Given the description of an element on the screen output the (x, y) to click on. 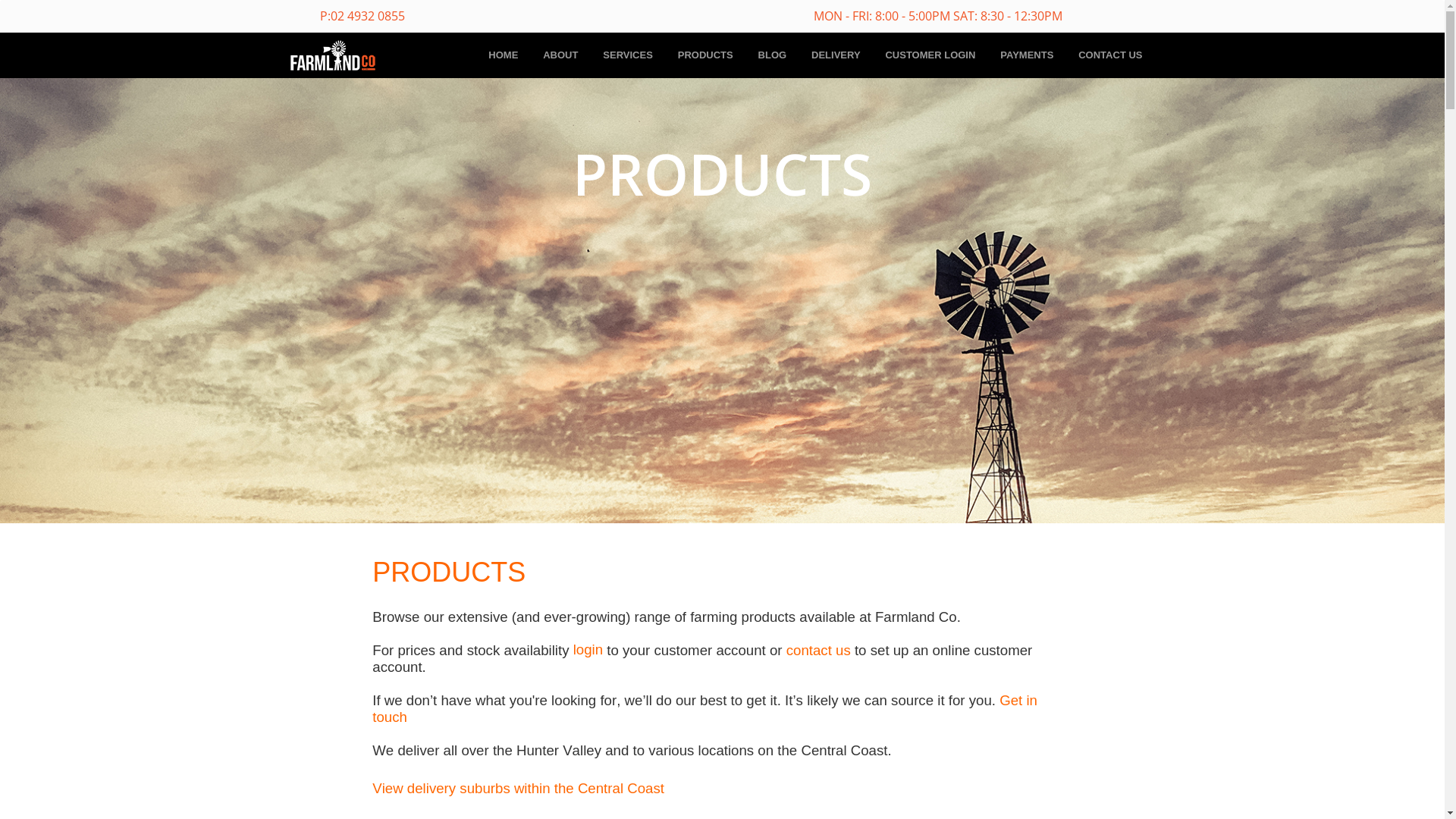
HOME Element type: text (503, 55)
login Element type: text (587, 649)
  Element type: text (997, 699)
contact us Element type: text (818, 650)
SERVICES Element type: text (627, 55)
Get in touch Element type: text (704, 708)
  Element type: text (409, 716)
P:02 4932 0855 Element type: text (362, 16)
CONTACT US Element type: text (1110, 55)
View delivery suburbs within the Central Coast Element type: text (518, 788)
CUSTOMER LOGIN Element type: text (929, 55)
BLOG Element type: text (772, 55)
PRODUCTS Element type: text (705, 55)
DELIVERY Element type: text (835, 55)
PAYMENTS Element type: text (1026, 55)
ABOUT Element type: text (559, 55)
